Given the description of an element on the screen output the (x, y) to click on. 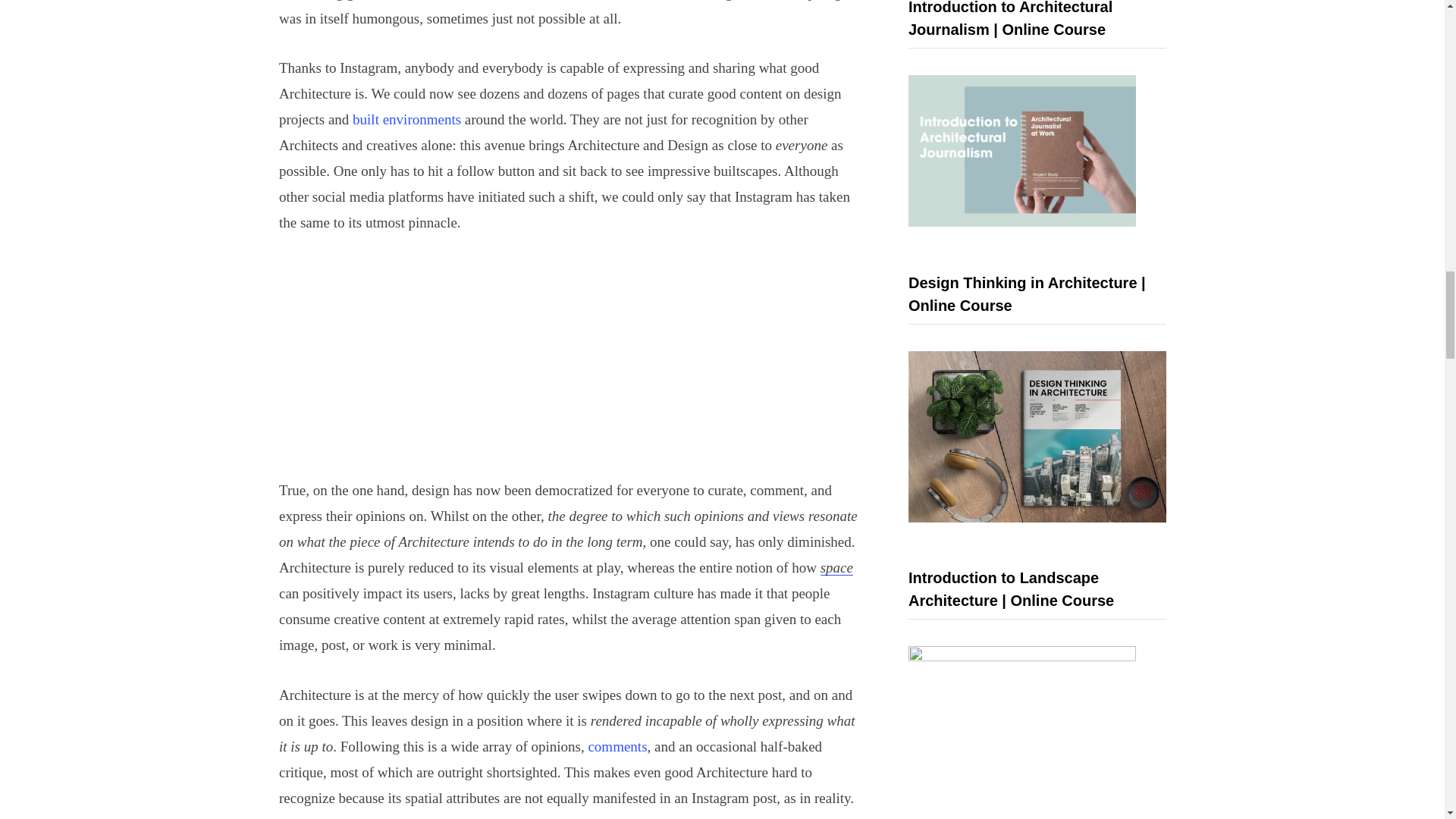
Advertisement (571, 365)
